Given the description of an element on the screen output the (x, y) to click on. 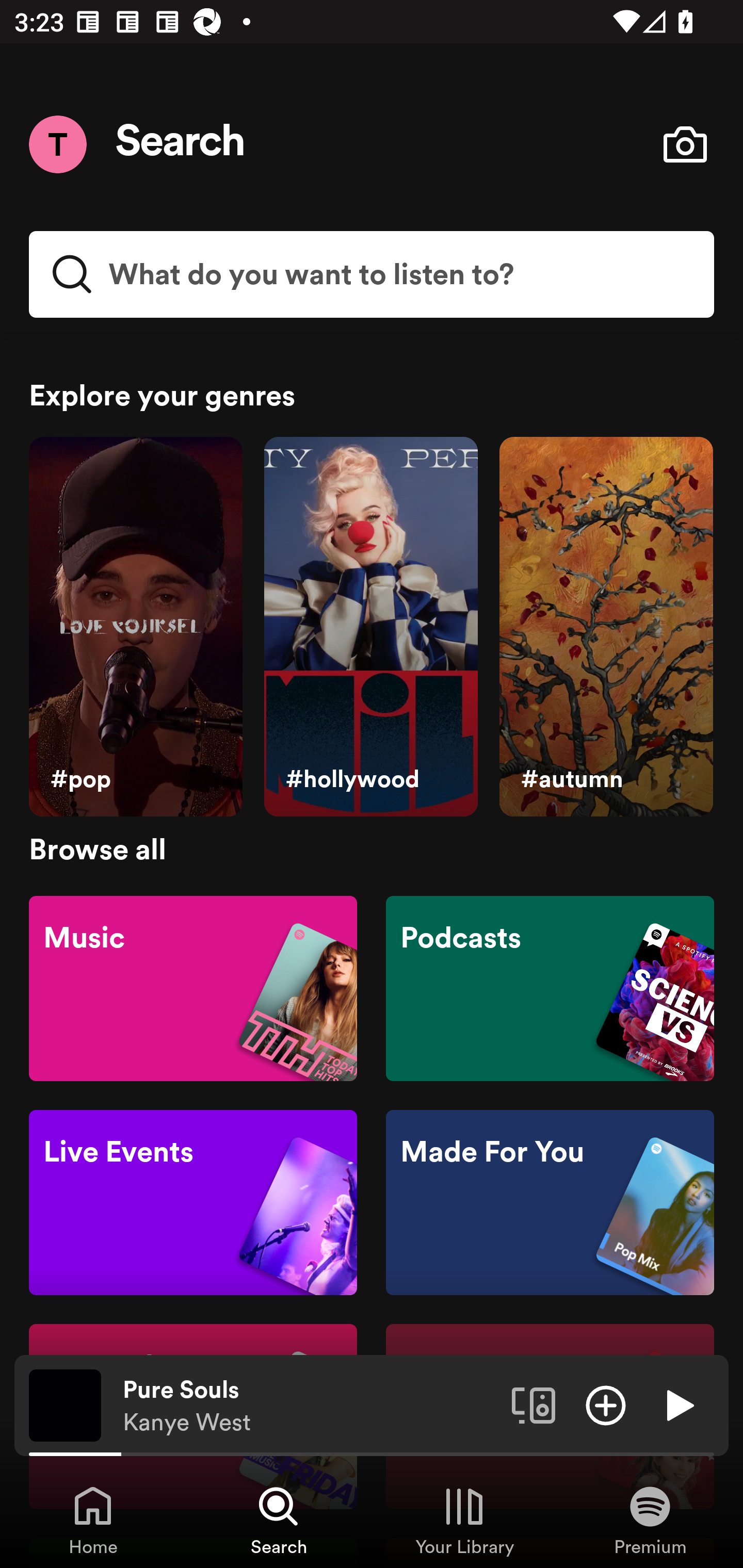
Menu (57, 144)
Open camera (685, 145)
Search (180, 144)
#pop (135, 626)
#hollywood (370, 626)
#autumn (606, 626)
Music (192, 987)
Podcasts (549, 987)
Live Events (192, 1202)
Made For You (549, 1202)
Pure Souls Kanye West (309, 1405)
The cover art of the currently playing track (64, 1404)
Connect to a device. Opens the devices menu (533, 1404)
Add item (605, 1404)
Play (677, 1404)
Home, Tab 1 of 4 Home Home (92, 1519)
Search, Tab 2 of 4 Search Search (278, 1519)
Your Library, Tab 3 of 4 Your Library Your Library (464, 1519)
